Given the description of an element on the screen output the (x, y) to click on. 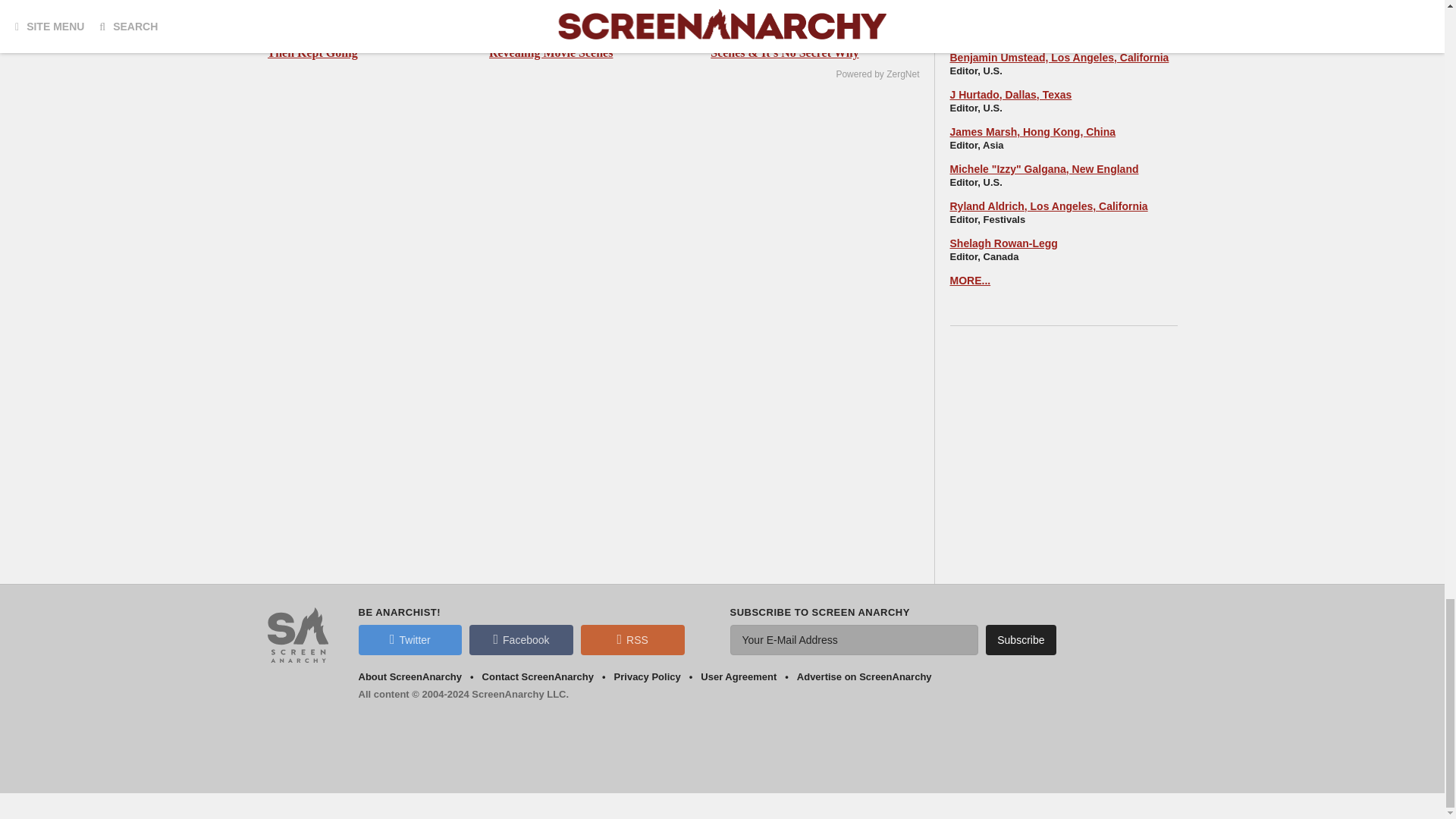
Subscribe (1020, 639)
